Given the description of an element on the screen output the (x, y) to click on. 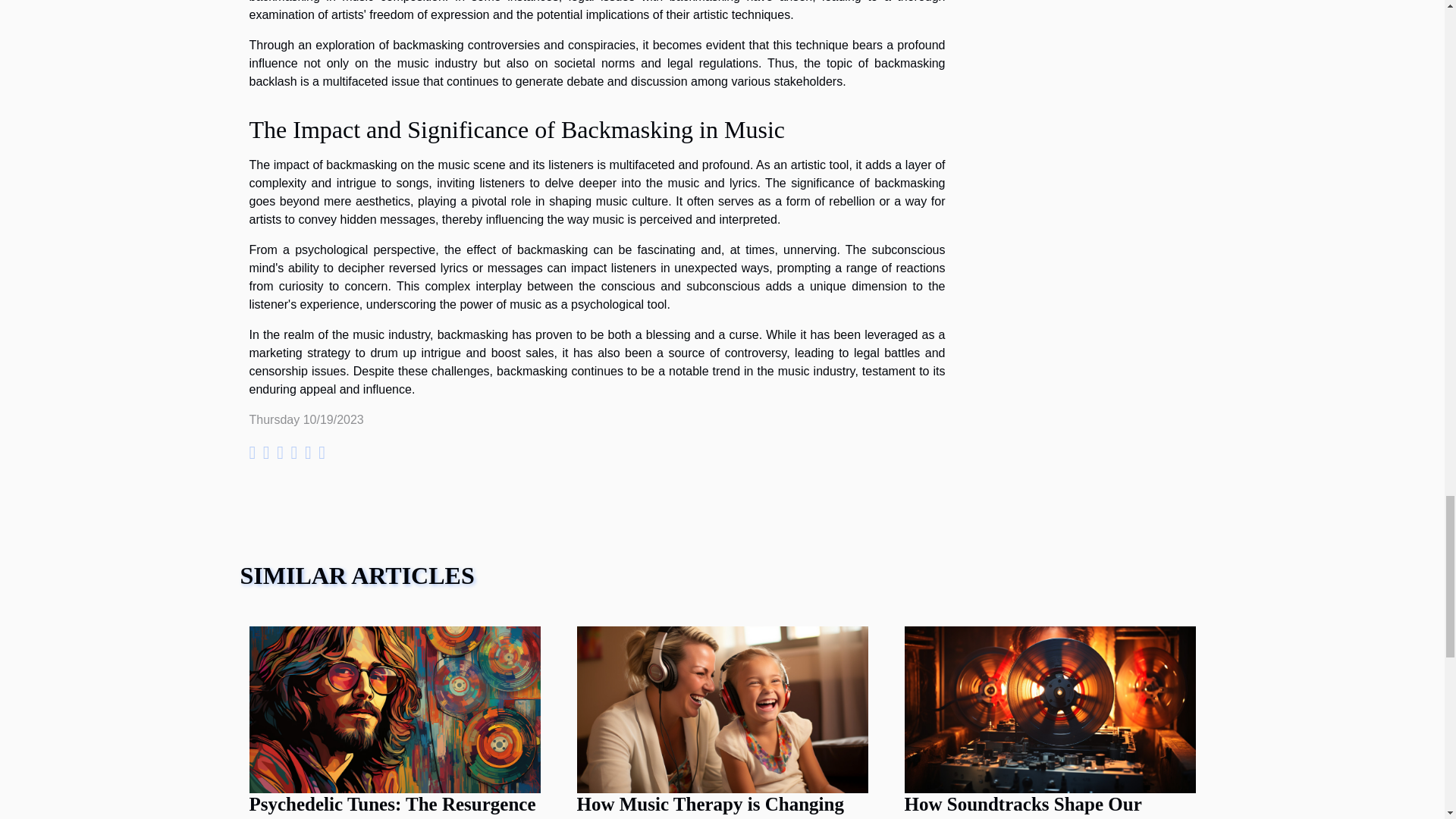
How Soundtracks Shape Our Movie Experience (1049, 707)
How Music Therapy is Changing Lives (709, 806)
How Music Therapy is Changing Lives (721, 707)
Psychedelic Tunes: The Resurgence of Vinyl Records (394, 707)
How Soundtracks Shape Our Movie Experience (1022, 806)
Psychedelic Tunes: The Resurgence of Vinyl Records (391, 806)
How Soundtracks Shape Our Movie Experience (1022, 806)
How Music Therapy is Changing Lives (709, 806)
Psychedelic Tunes: The Resurgence of Vinyl Records (391, 806)
